Given the description of an element on the screen output the (x, y) to click on. 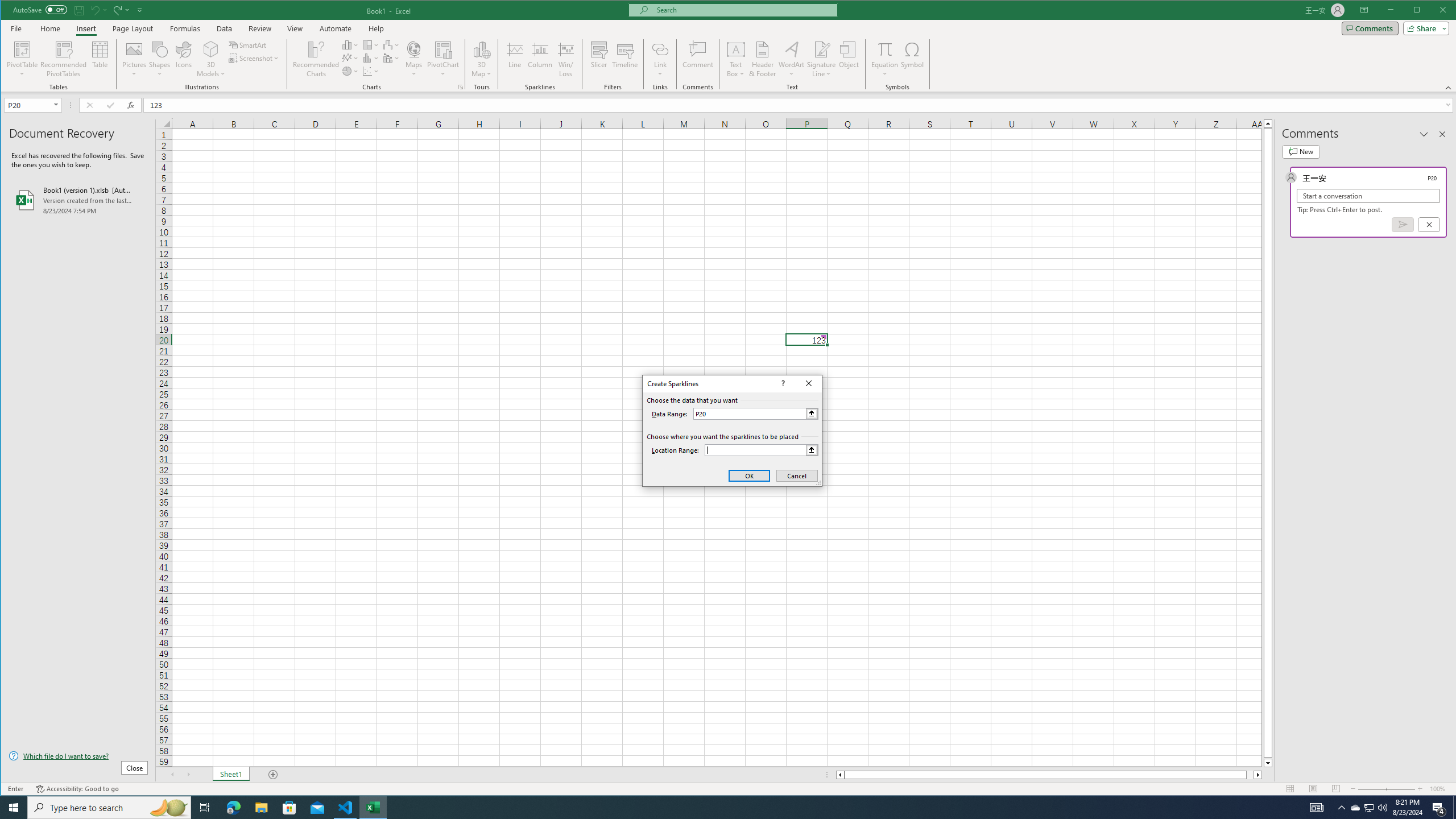
Insert Waterfall, Funnel, Stock, Surface, or Radar Chart (391, 44)
WordArt (791, 59)
Task View (1355, 807)
Context help (204, 807)
Header & Footer... (781, 383)
Screenshot (762, 59)
